Given the description of an element on the screen output the (x, y) to click on. 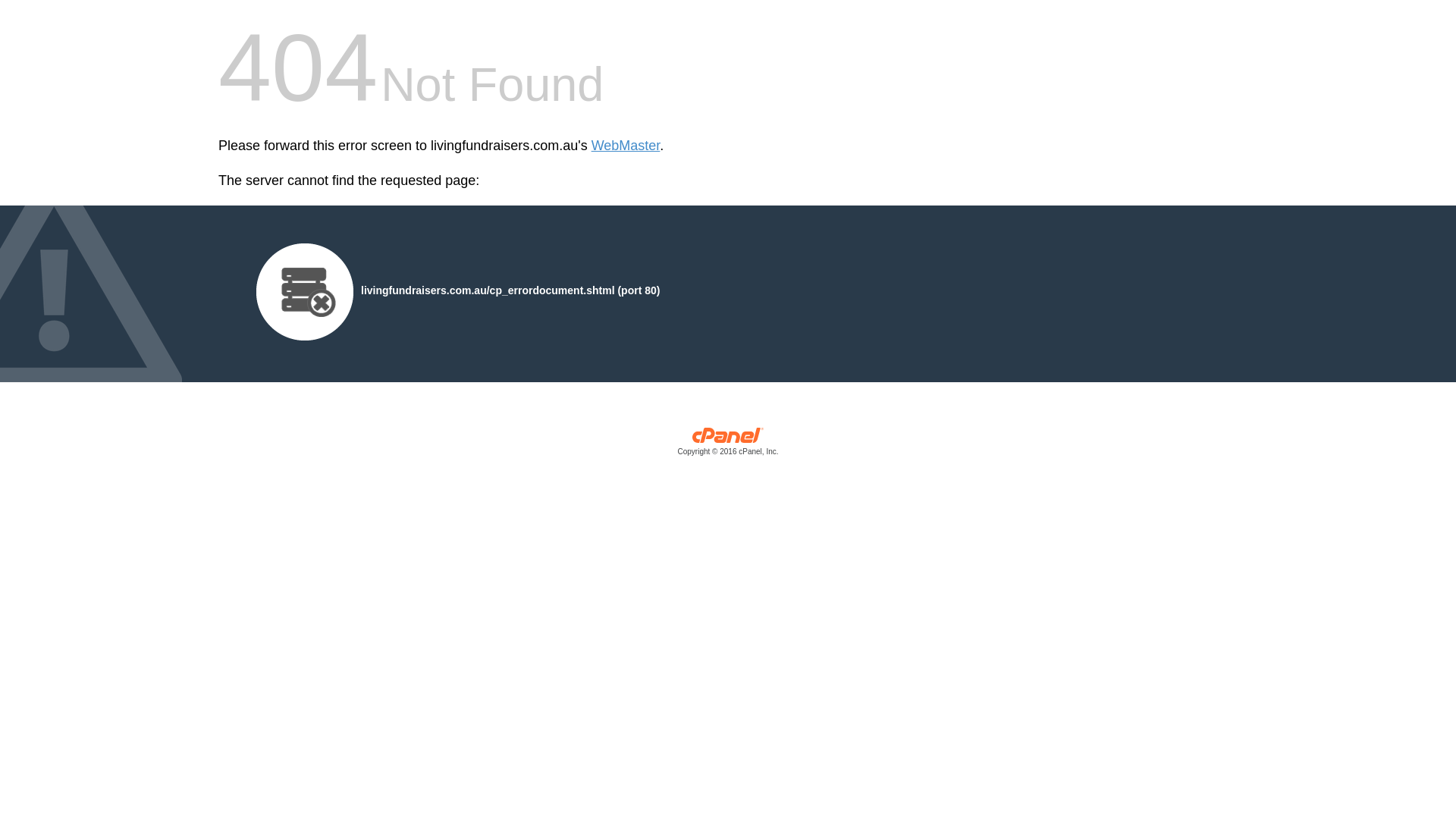
WebMaster Element type: text (625, 145)
